Given the description of an element on the screen output the (x, y) to click on. 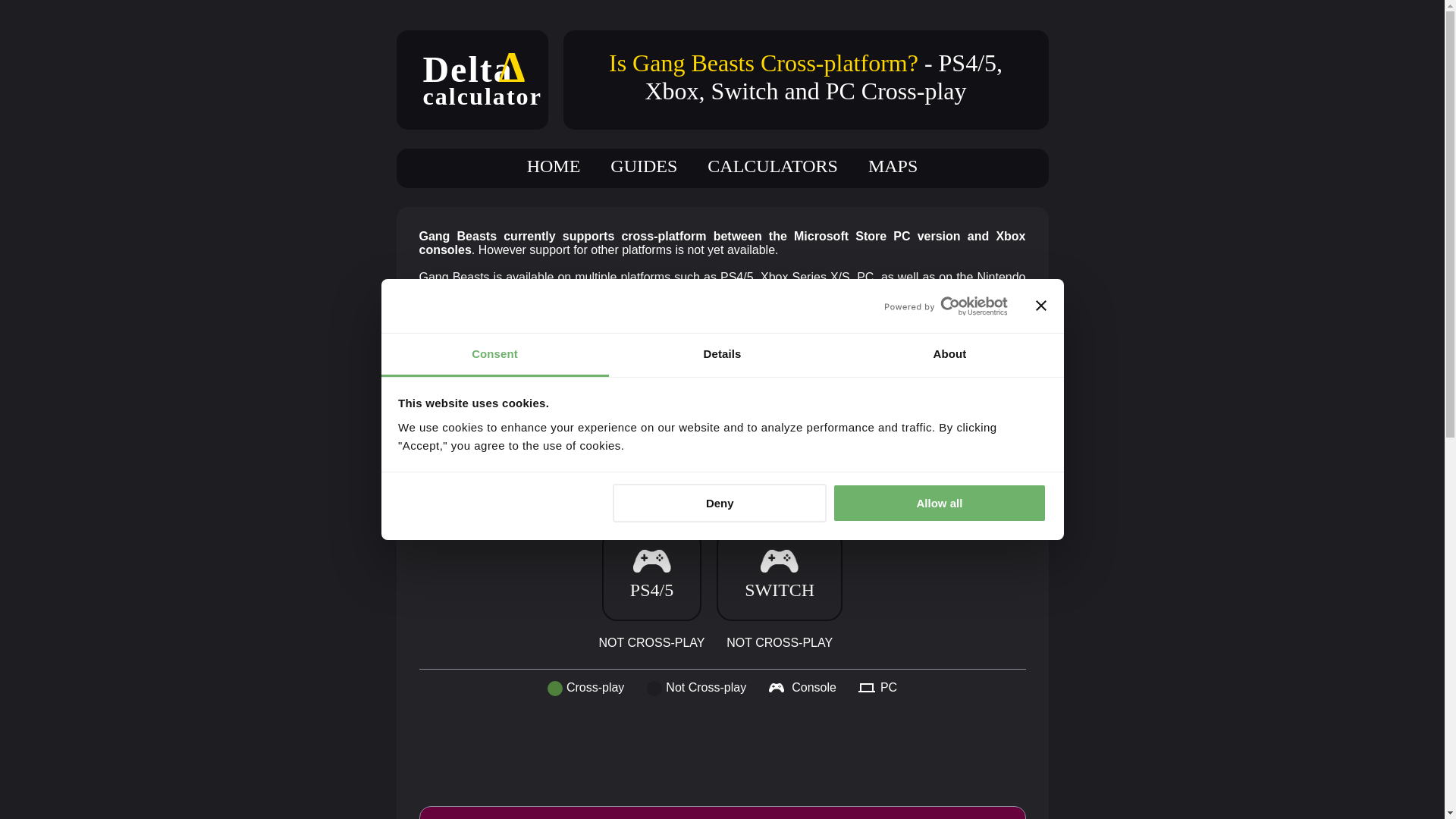
Details (721, 354)
Deny (719, 503)
Advertisement (744, 753)
Consent (494, 354)
About (948, 354)
Allow all (939, 503)
HOME (553, 166)
